Given the description of an element on the screen output the (x, y) to click on. 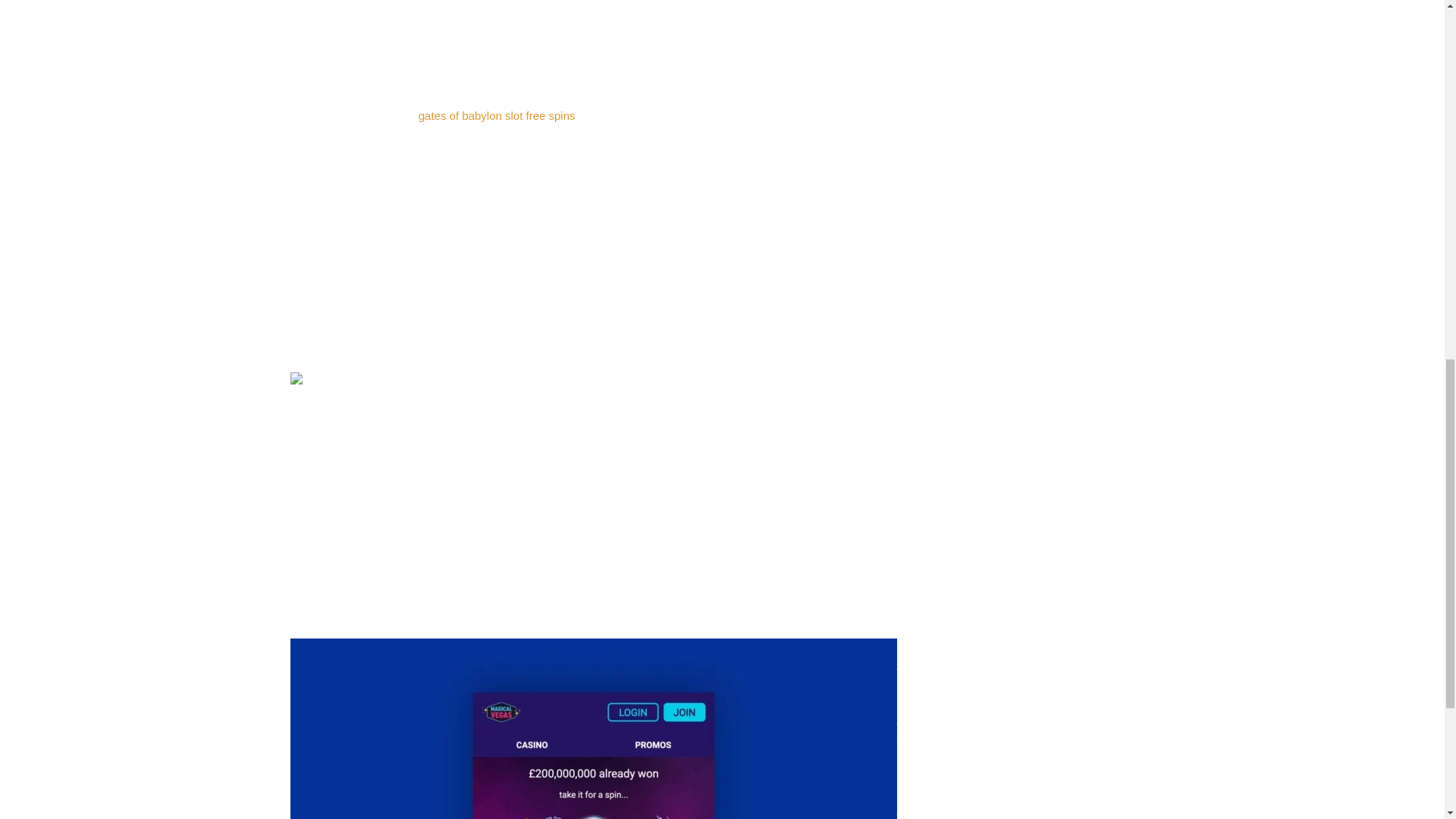
gates of babylon slot free spins (497, 115)
